Given the description of an element on the screen output the (x, y) to click on. 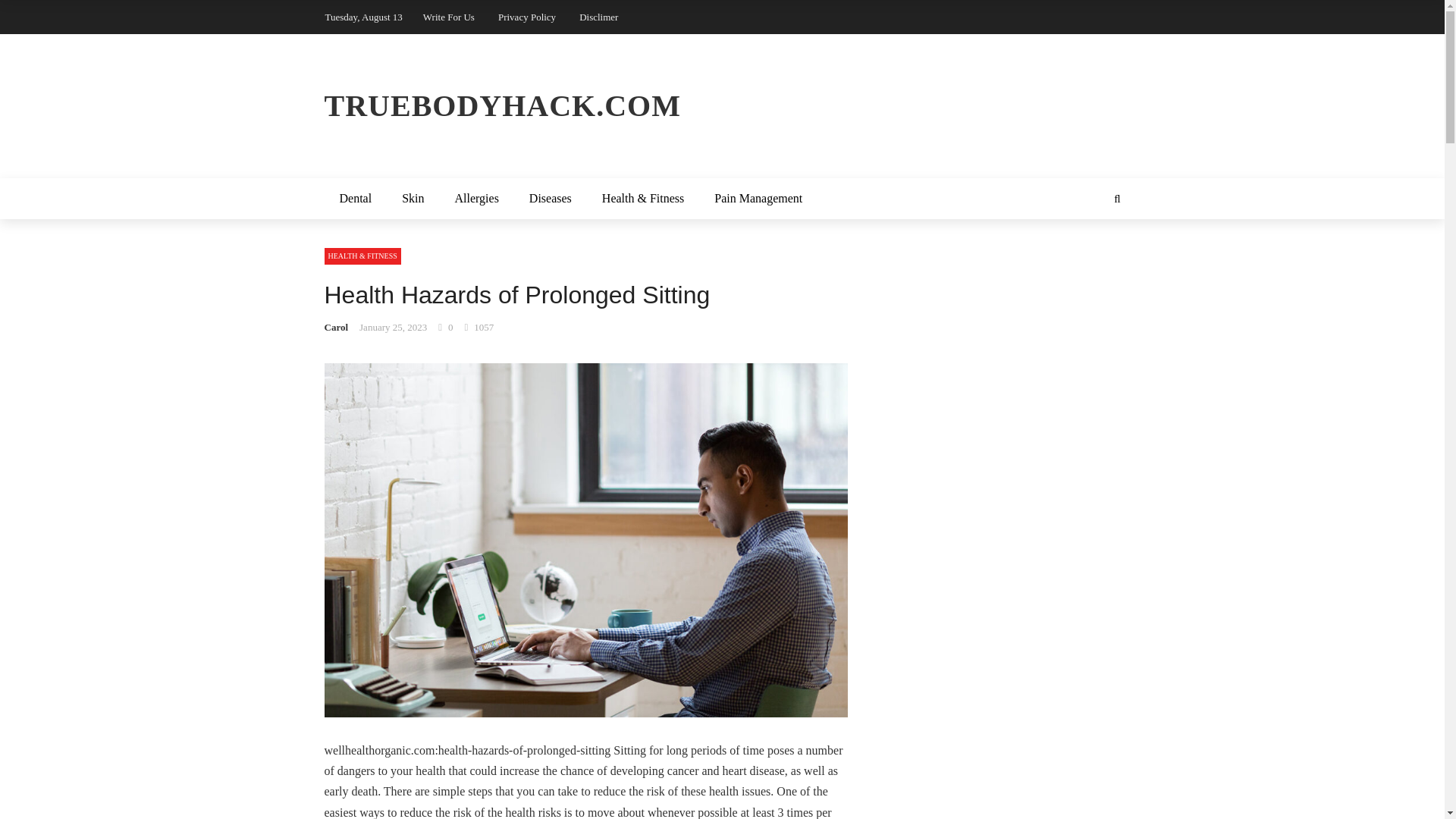
Write For Us (448, 16)
TRUEBODYHACK.COM (722, 106)
Dental (355, 198)
Disclimer (598, 16)
Diseases (549, 198)
Pain Management (757, 198)
Privacy Policy (526, 16)
Carol (336, 326)
Skin (413, 198)
Allergies (476, 198)
